Given the description of an element on the screen output the (x, y) to click on. 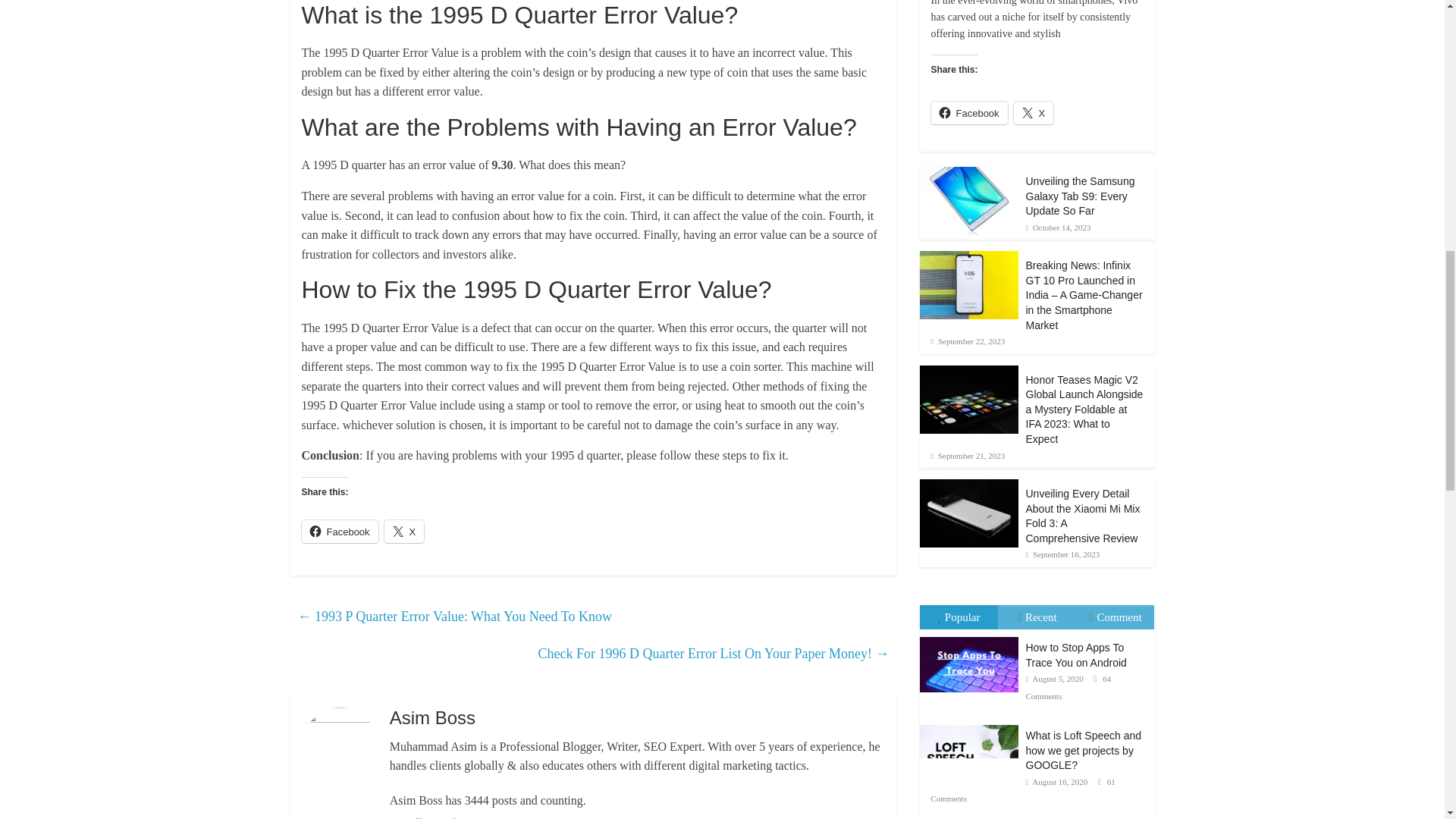
Click to share on X (404, 531)
Facebook (339, 531)
X (404, 531)
Click to share on Facebook (339, 531)
